Given the description of an element on the screen output the (x, y) to click on. 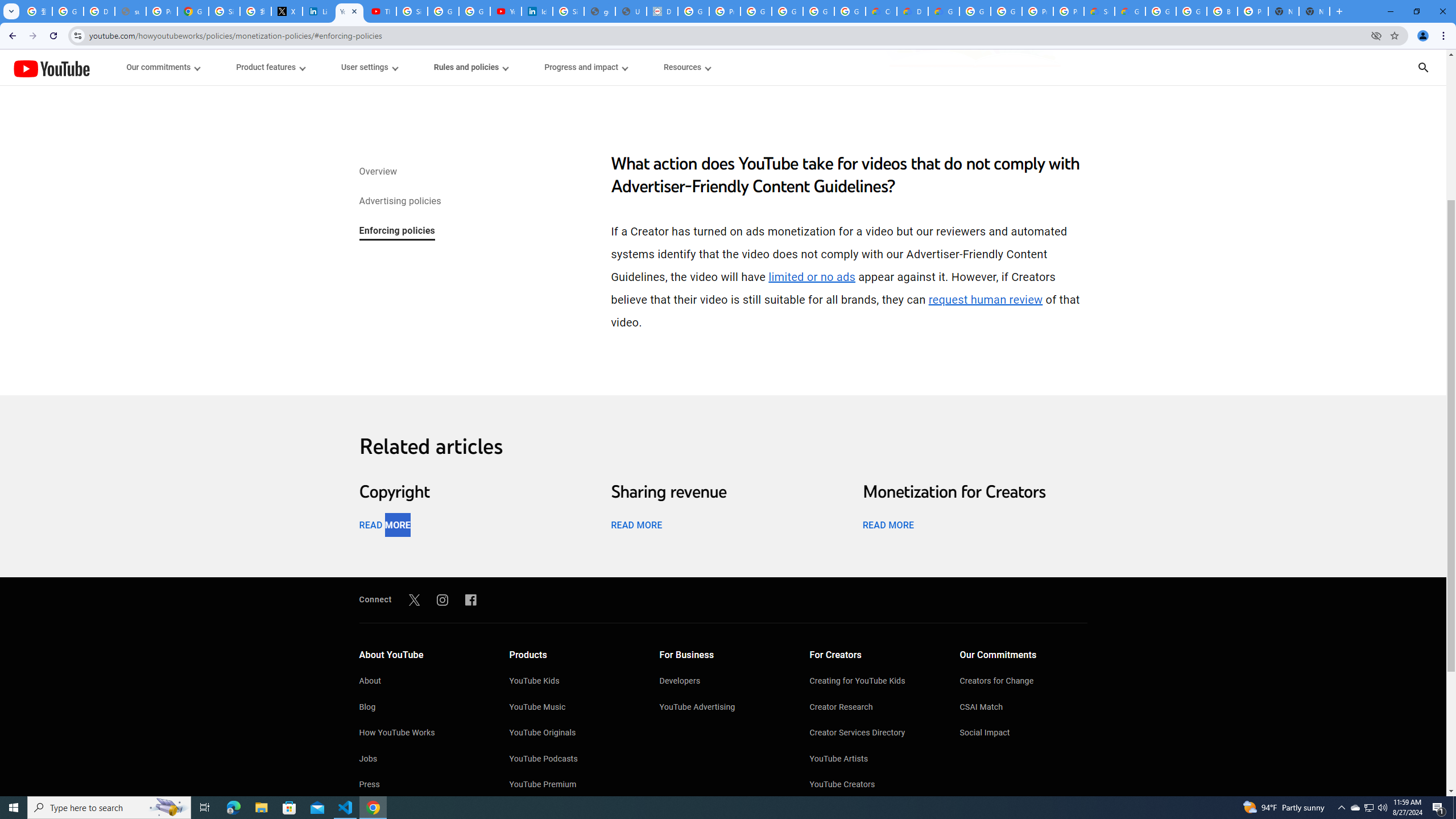
Google Cloud Platform (974, 11)
Play (723, 469)
Progress and impact menupopup (585, 67)
Our commitments menupopup (163, 67)
